Given the description of an element on the screen output the (x, y) to click on. 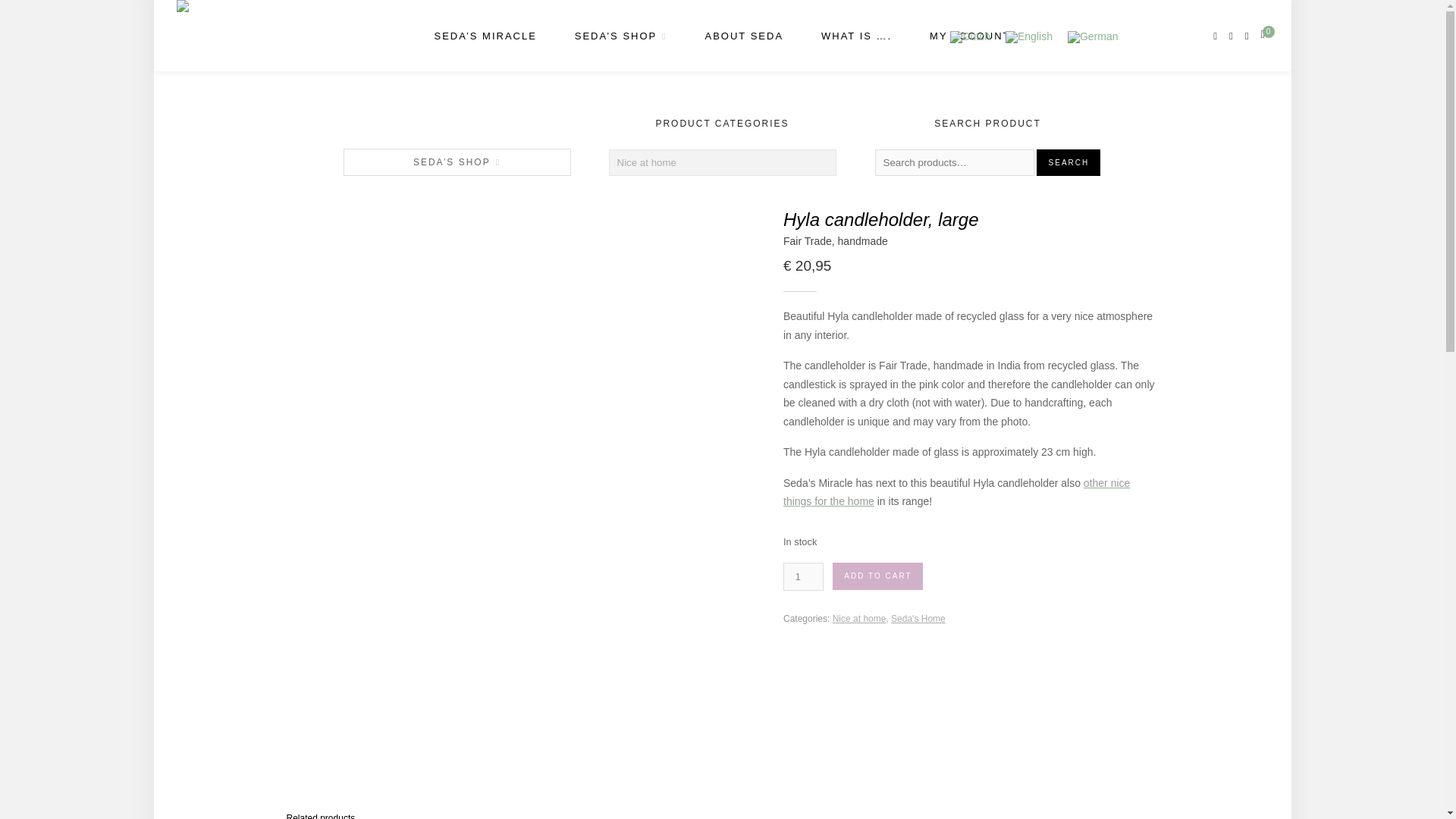
1 (803, 576)
MY ACCOUNT (970, 36)
Qty (803, 576)
ABOUT SEDA (744, 36)
